Given the description of an element on the screen output the (x, y) to click on. 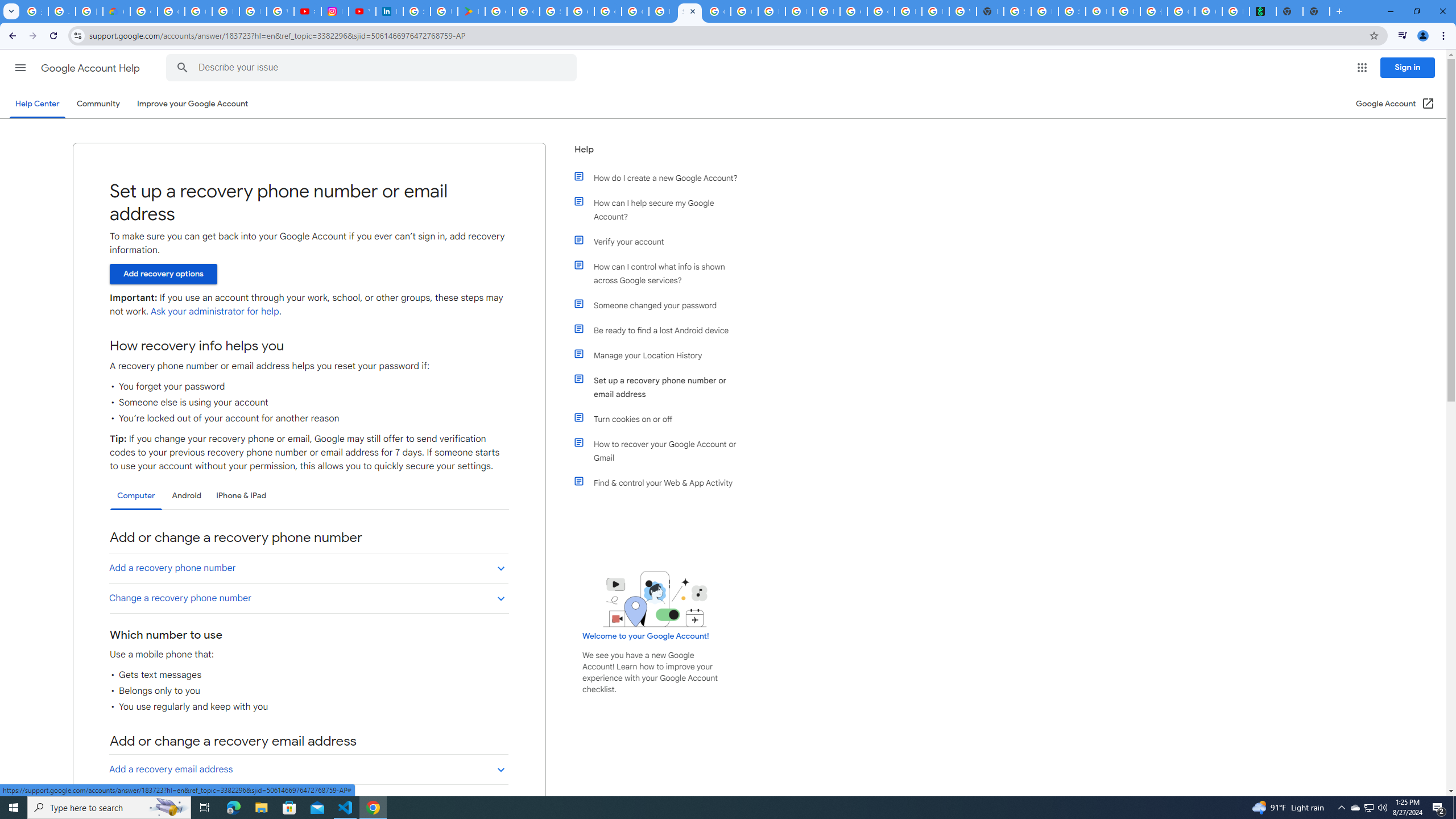
Verify your account (661, 241)
Google Cloud Platform (580, 11)
Android (186, 495)
How do I create a new Google Account? (661, 177)
How to recover your Google Account or Gmail (661, 450)
